Given the description of an element on the screen output the (x, y) to click on. 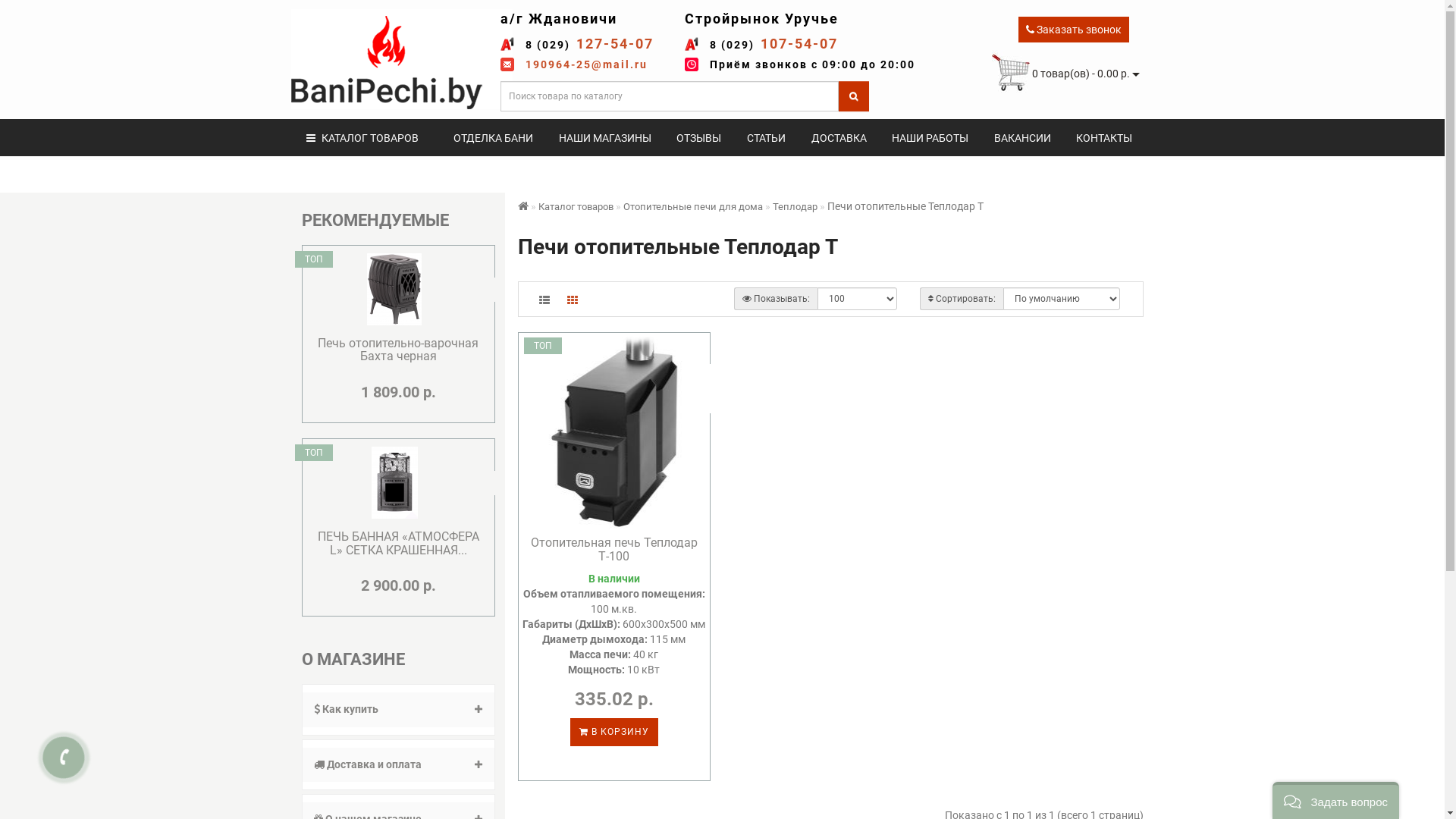
190964-25@mail.ru Element type: text (586, 64)
cart Element type: hover (1010, 72)
8 (029) 127-54-07 Element type: text (589, 43)
8 (029) 107-54-07 Element type: text (773, 43)
